Given the description of an element on the screen output the (x, y) to click on. 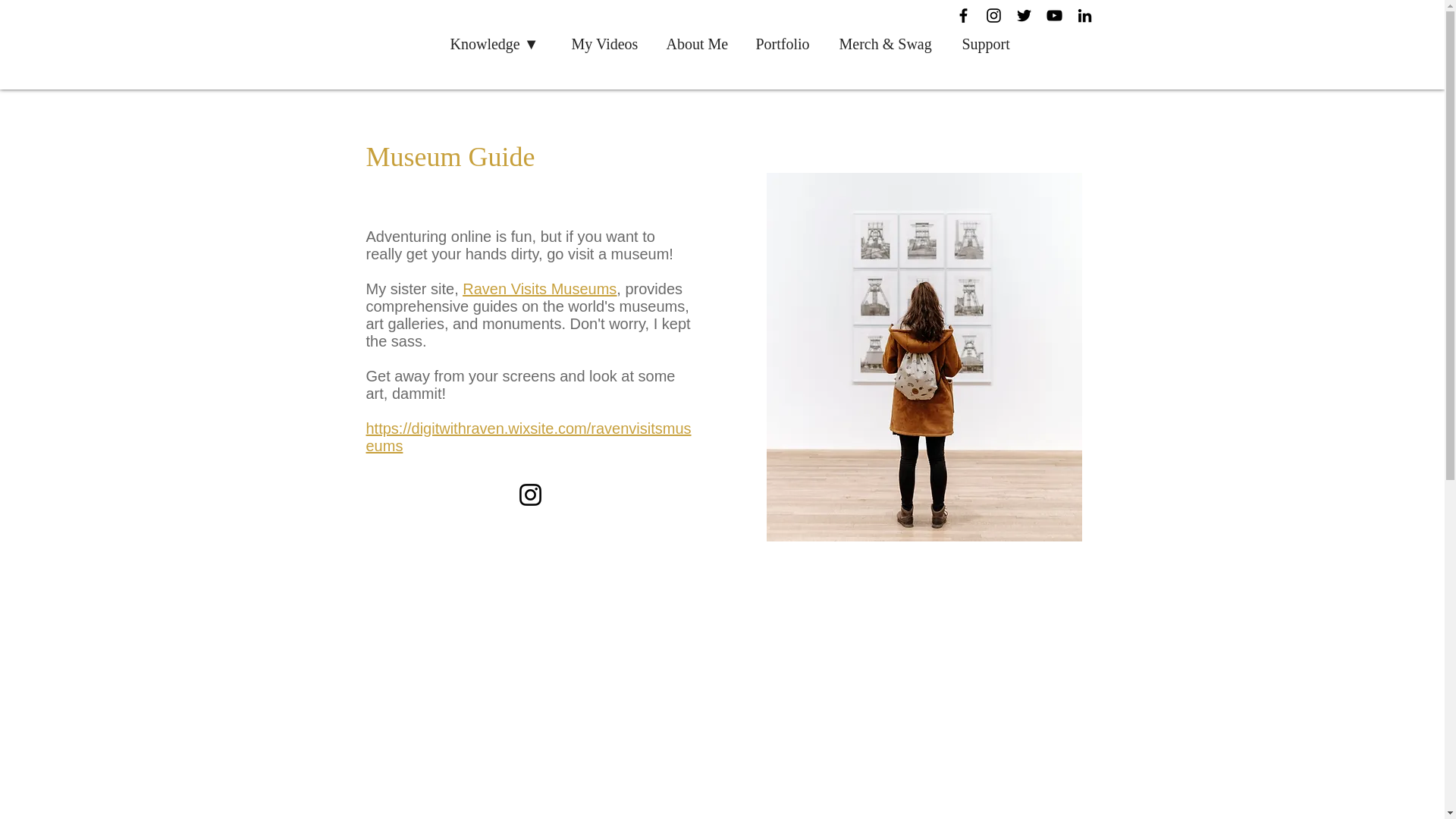
About Me (699, 44)
Raven Visits Museums (539, 288)
Support (989, 44)
My Videos (608, 44)
Portfolio (786, 44)
